Given the description of an element on the screen output the (x, y) to click on. 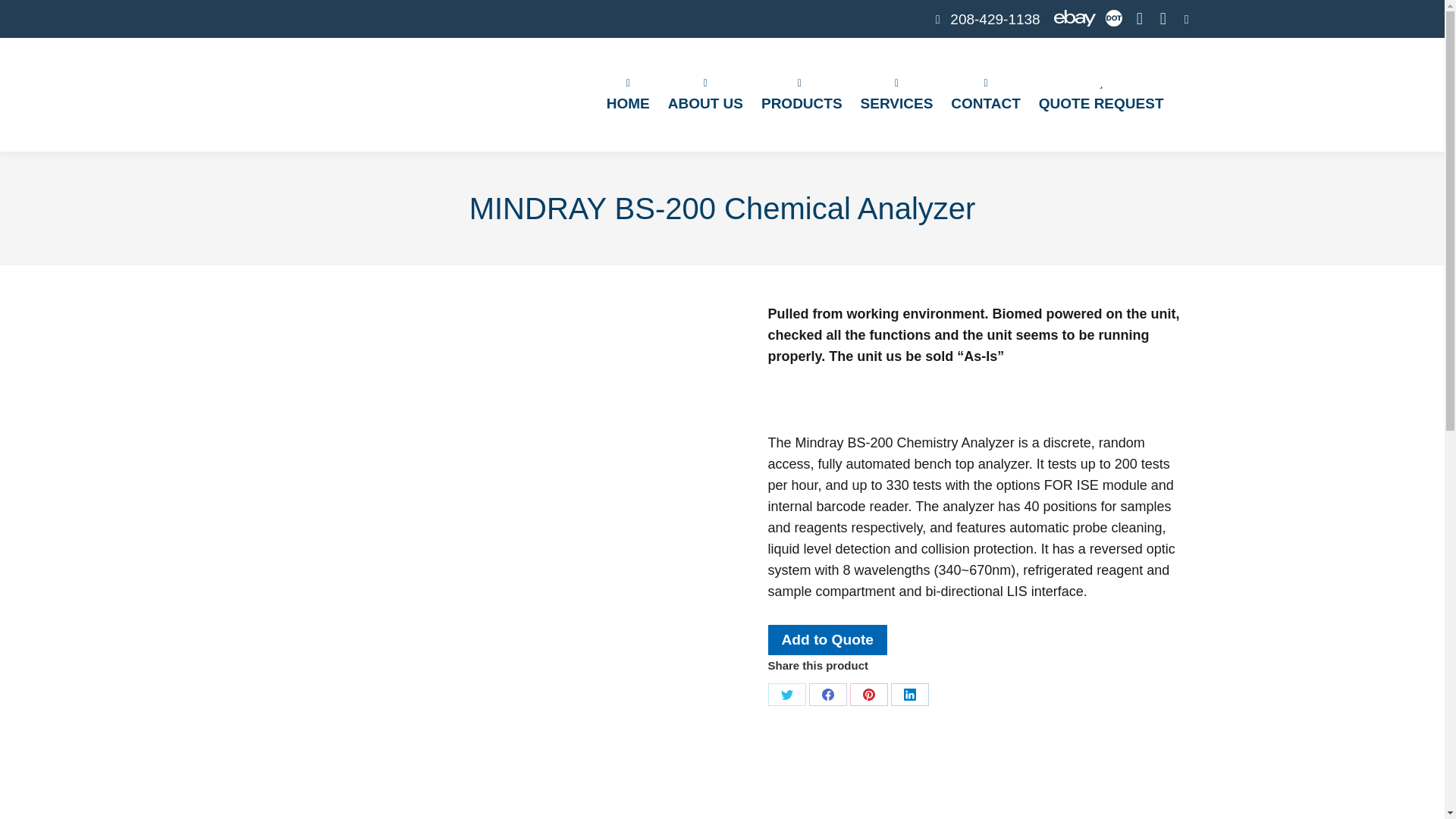
PRODUCTS (801, 94)
208-429-1138 (985, 18)
Twitter (786, 694)
ABOUT US (705, 94)
Instagram page opens in new window (1163, 18)
Facebook page opens in new window (1139, 18)
SERVICES (897, 94)
QUOTE REQUEST (1101, 94)
Go! (22, 15)
Facebook (826, 694)
